Given the description of an element on the screen output the (x, y) to click on. 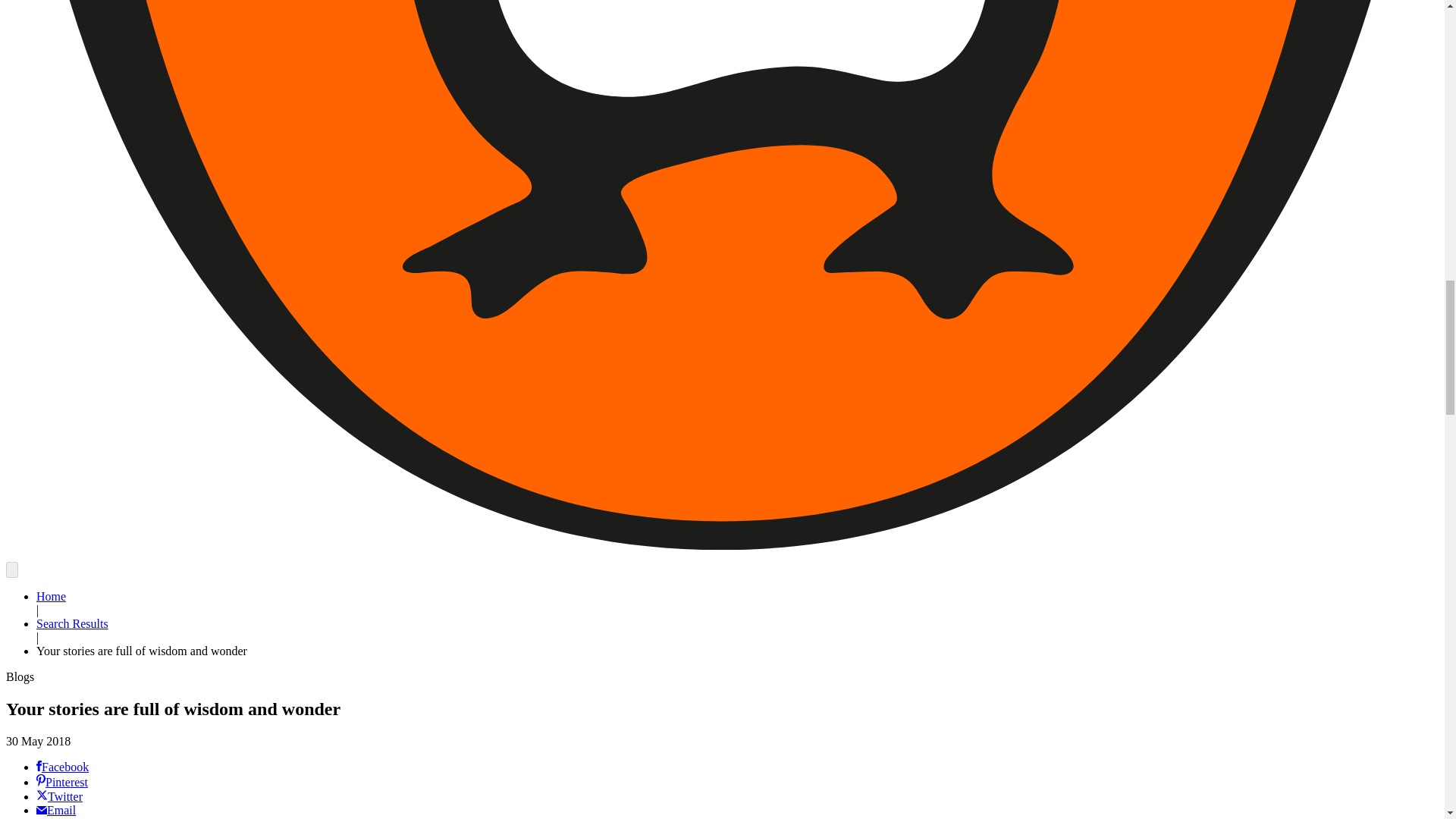
Home (50, 595)
Email (55, 809)
Pinterest (61, 781)
Twitter (59, 796)
Search Results (71, 623)
Facebook (62, 766)
